Given the description of an element on the screen output the (x, y) to click on. 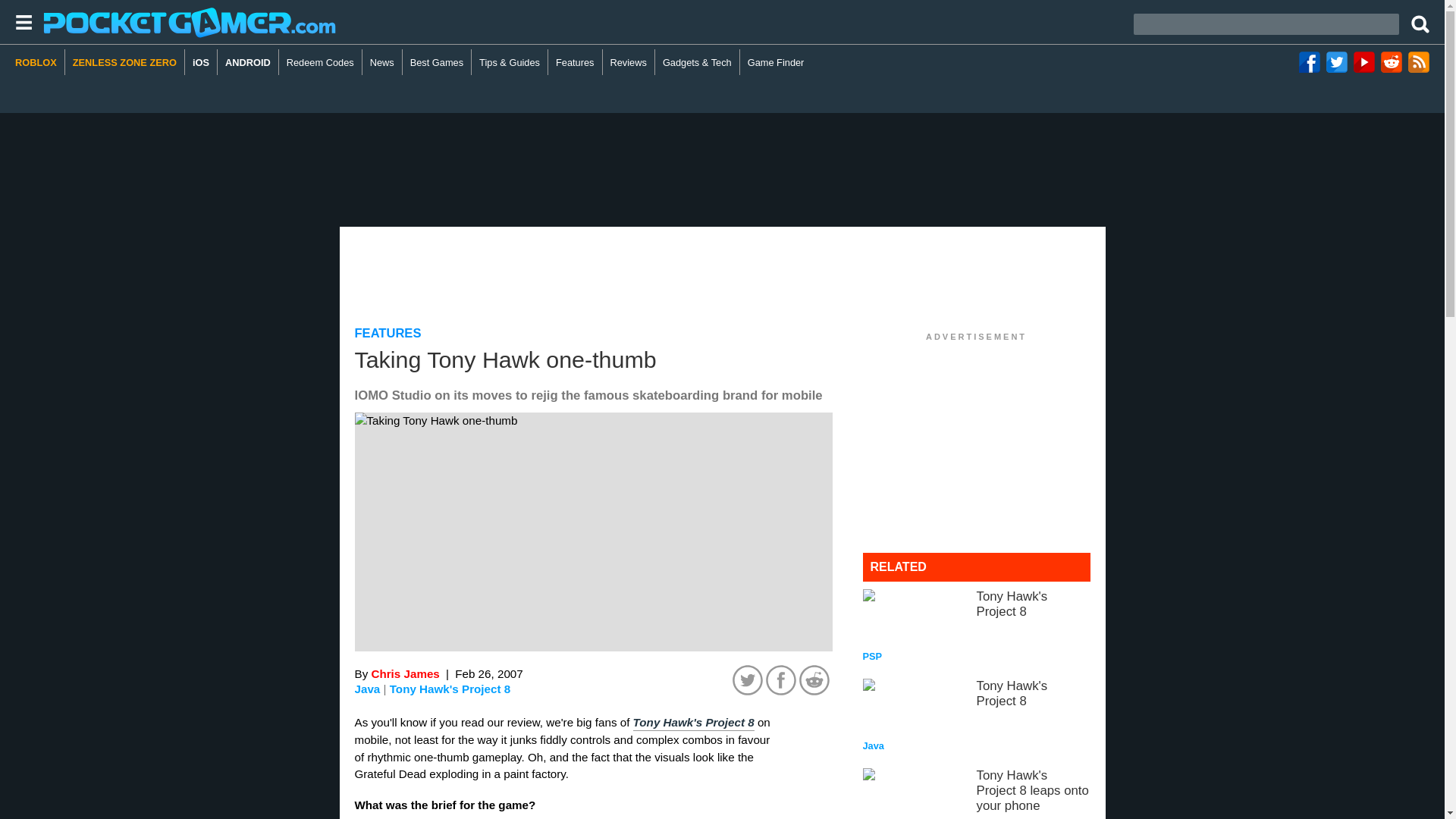
Redeem Codes (320, 62)
FEATURES (976, 715)
Reviews (388, 332)
Features (628, 62)
Best Games (575, 62)
ANDROID (437, 62)
Game Finder (976, 625)
ZENLESS ZONE ZERO (247, 62)
